Given the description of an element on the screen output the (x, y) to click on. 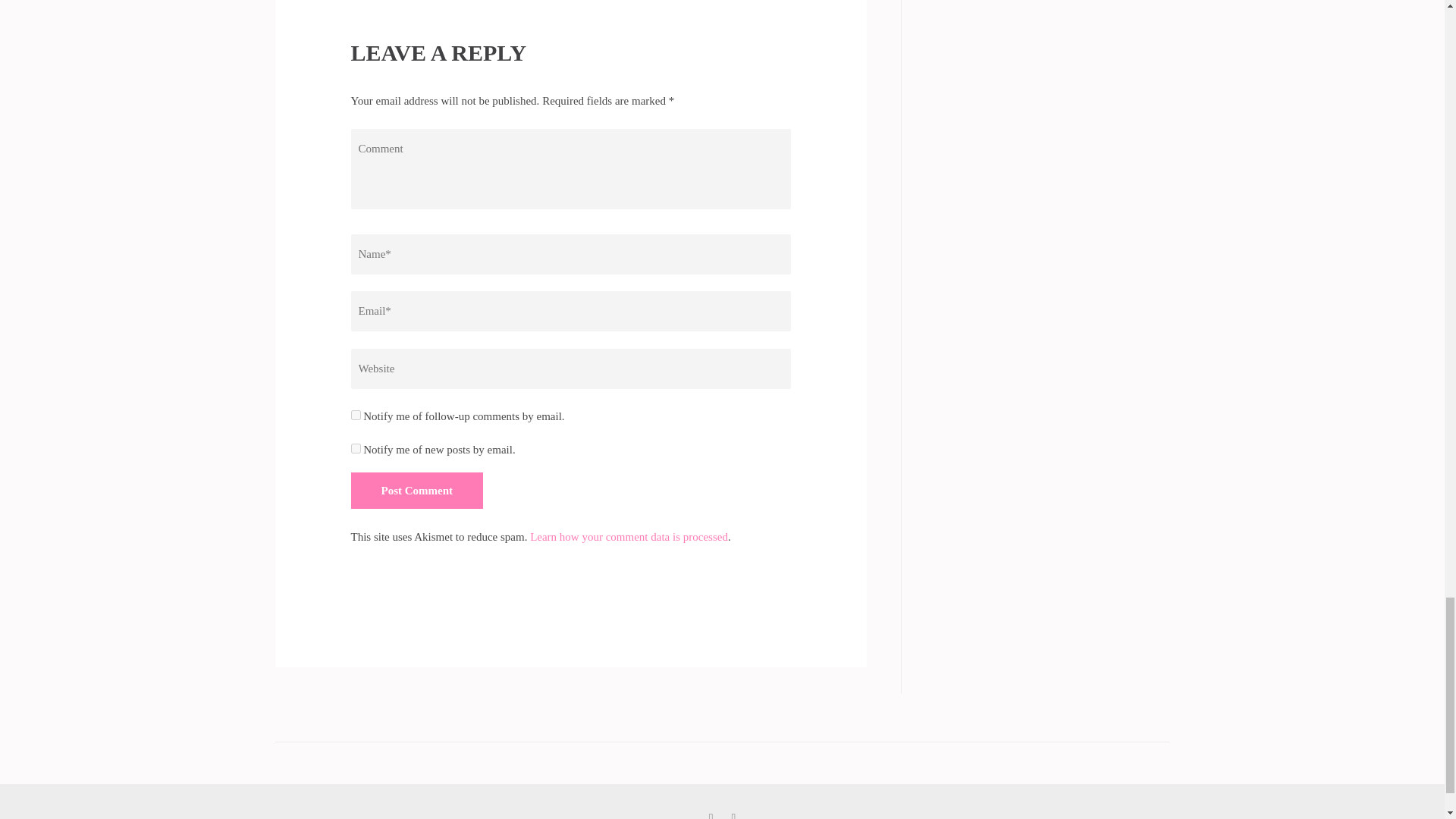
subscribe (354, 415)
subscribe (354, 448)
Post Comment (416, 490)
